Given the description of an element on the screen output the (x, y) to click on. 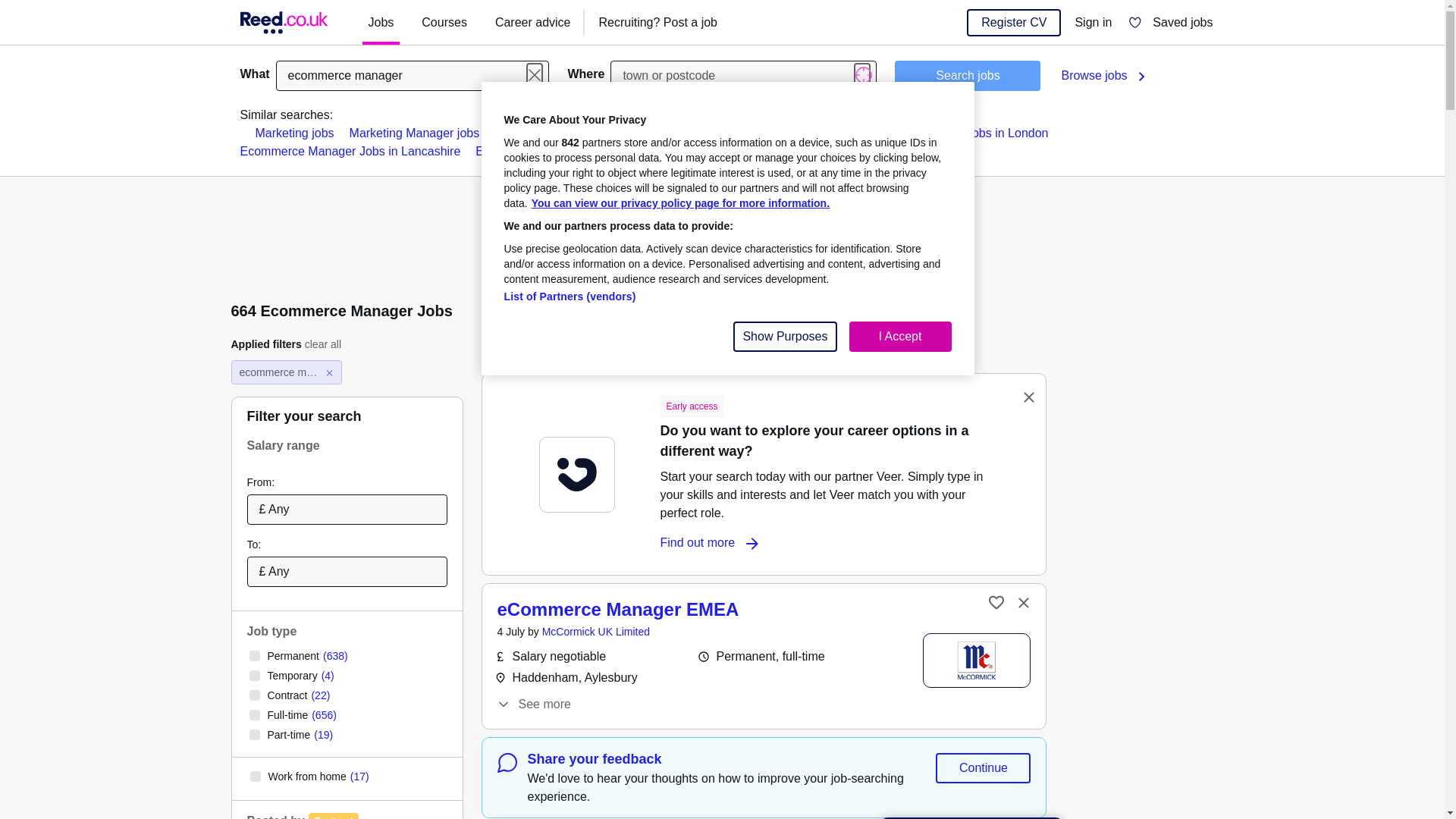
on (253, 715)
Saved jobs (1170, 22)
eCommerce Manager EMEA (618, 608)
town or postcode (743, 75)
on (253, 734)
Website Manager jobs (554, 132)
Ecommerce Manager Jobs in Lancashire (350, 151)
Marketing jobs (293, 132)
See more (533, 704)
Recruiting? Post a job (657, 22)
Career advice (532, 22)
Digital Marketing jobs (687, 132)
Digital Marketing jobs (687, 132)
Find out more (708, 542)
Marketing Manager jobs (414, 132)
